Given the description of an element on the screen output the (x, y) to click on. 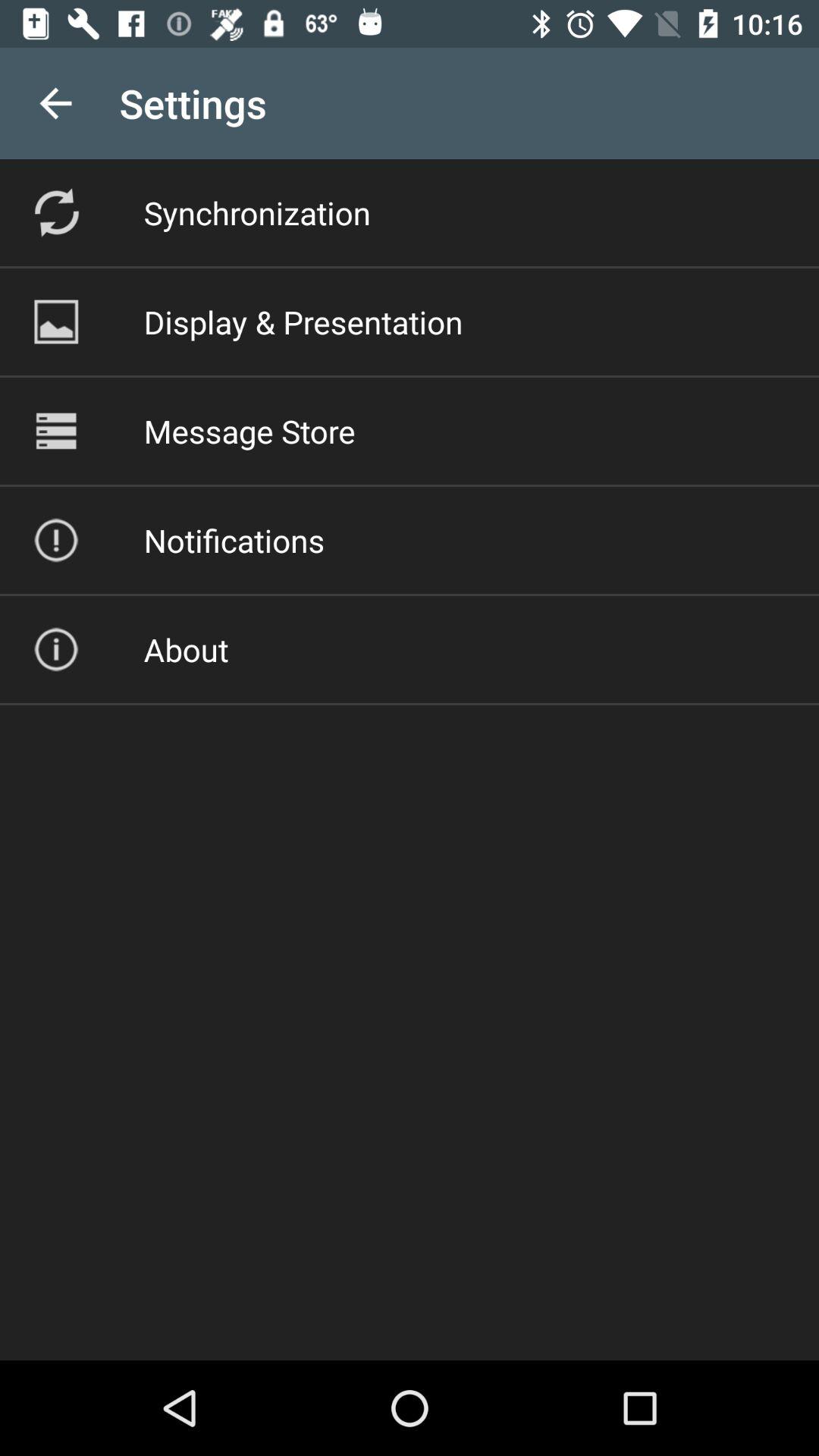
press the message store icon (249, 430)
